Given the description of an element on the screen output the (x, y) to click on. 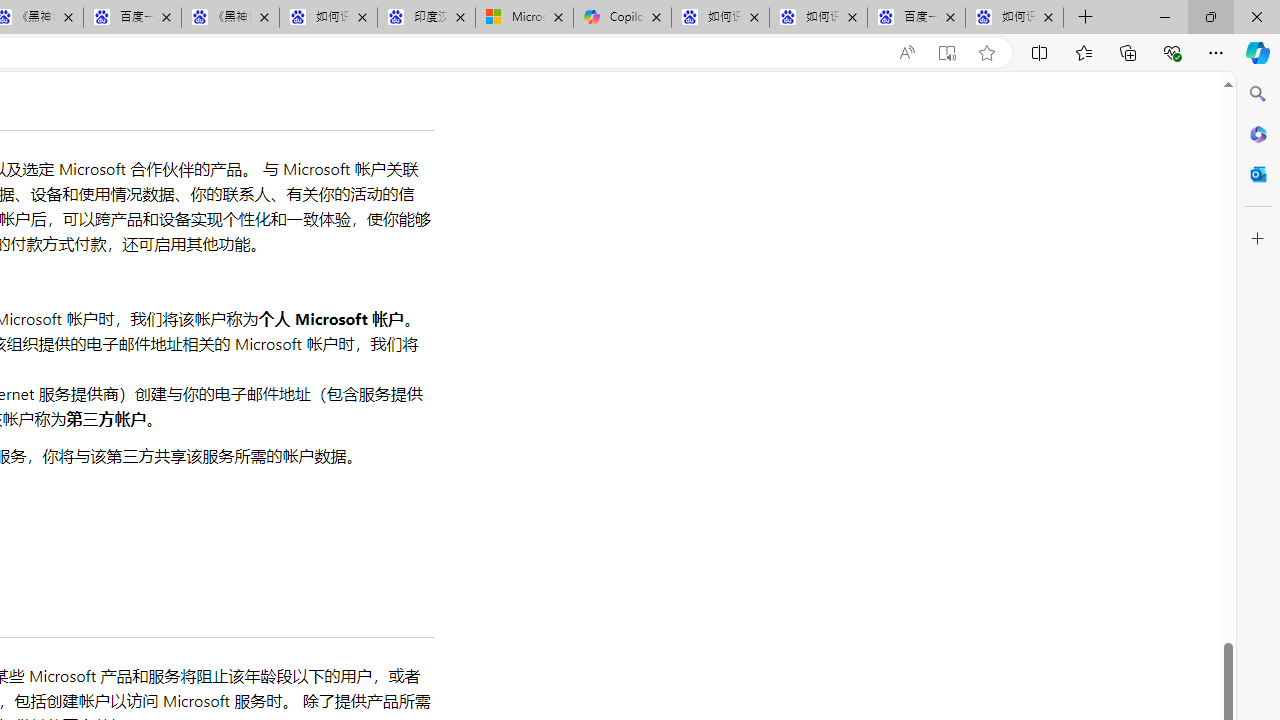
Copilot (621, 17)
